Given the description of an element on the screen output the (x, y) to click on. 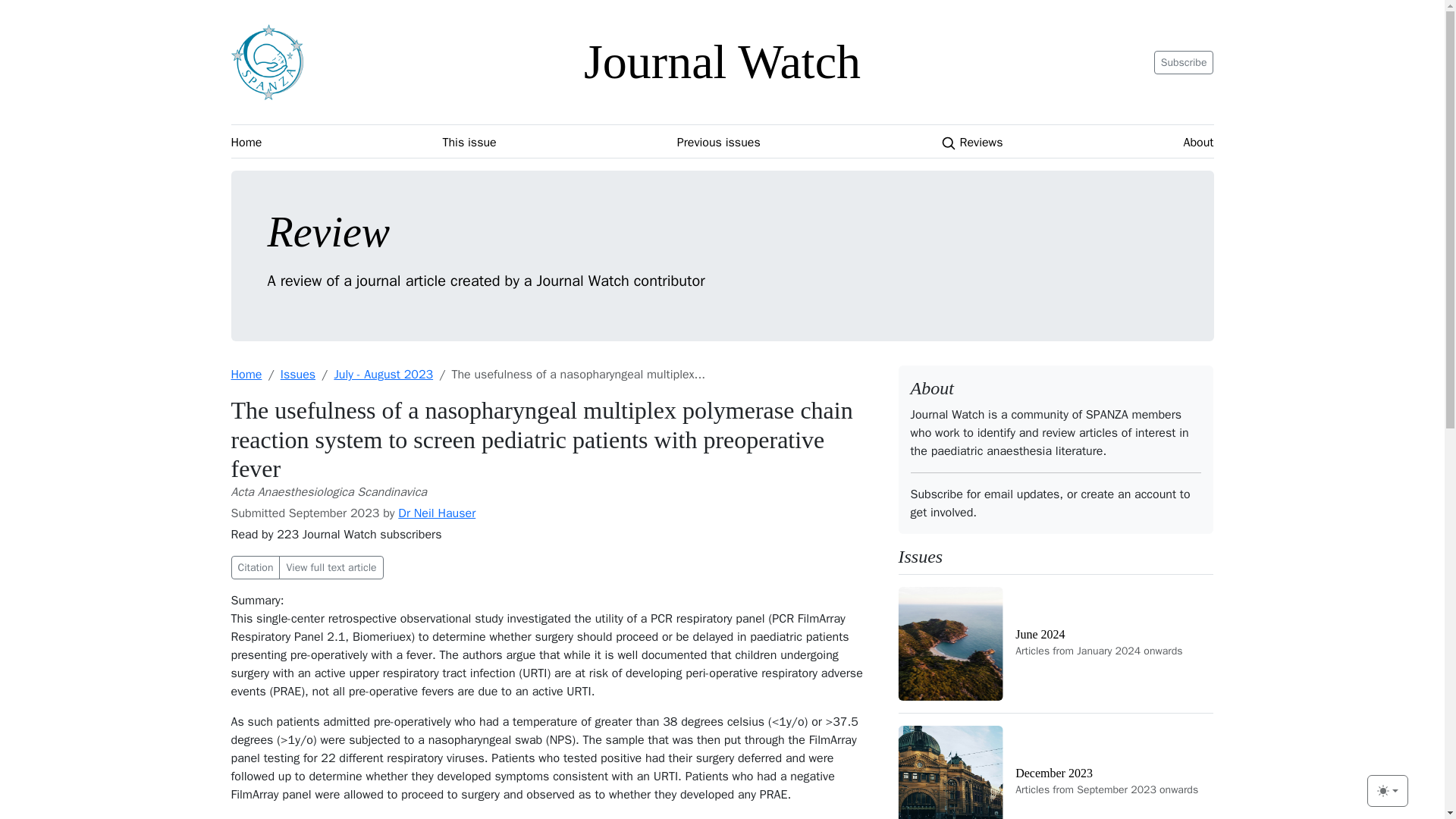
Subscribe (1184, 61)
Journal Watch (721, 61)
About (1198, 142)
Issues (298, 374)
Citation (254, 567)
Reviews (1055, 643)
Home (971, 142)
Dr Neil Hauser (1055, 765)
Toggle theme (246, 142)
Previous issues (436, 513)
July - August 2023 (1387, 790)
View full text article (718, 142)
